Given the description of an element on the screen output the (x, y) to click on. 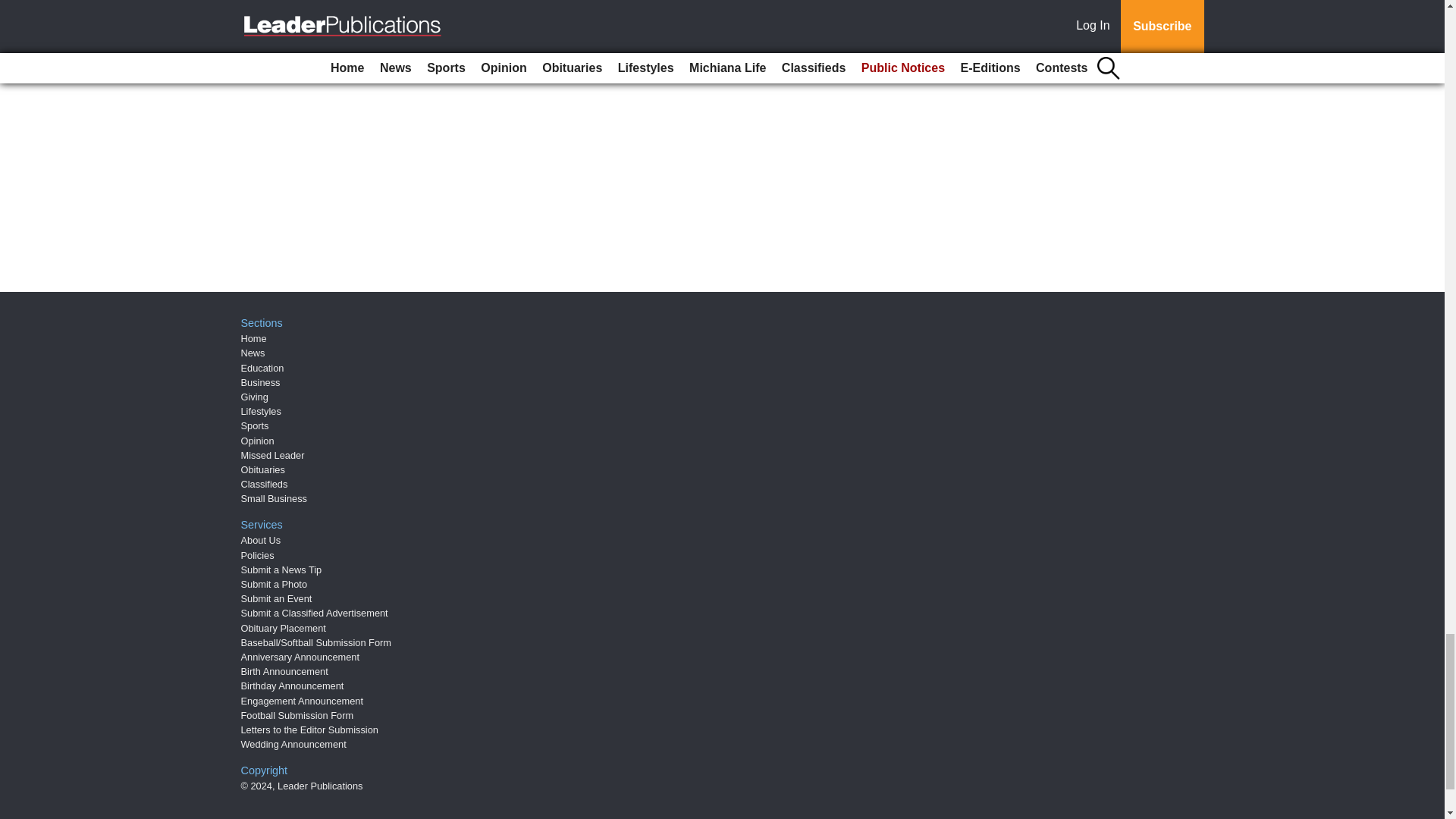
Print Article (384, 51)
